Given the description of an element on the screen output the (x, y) to click on. 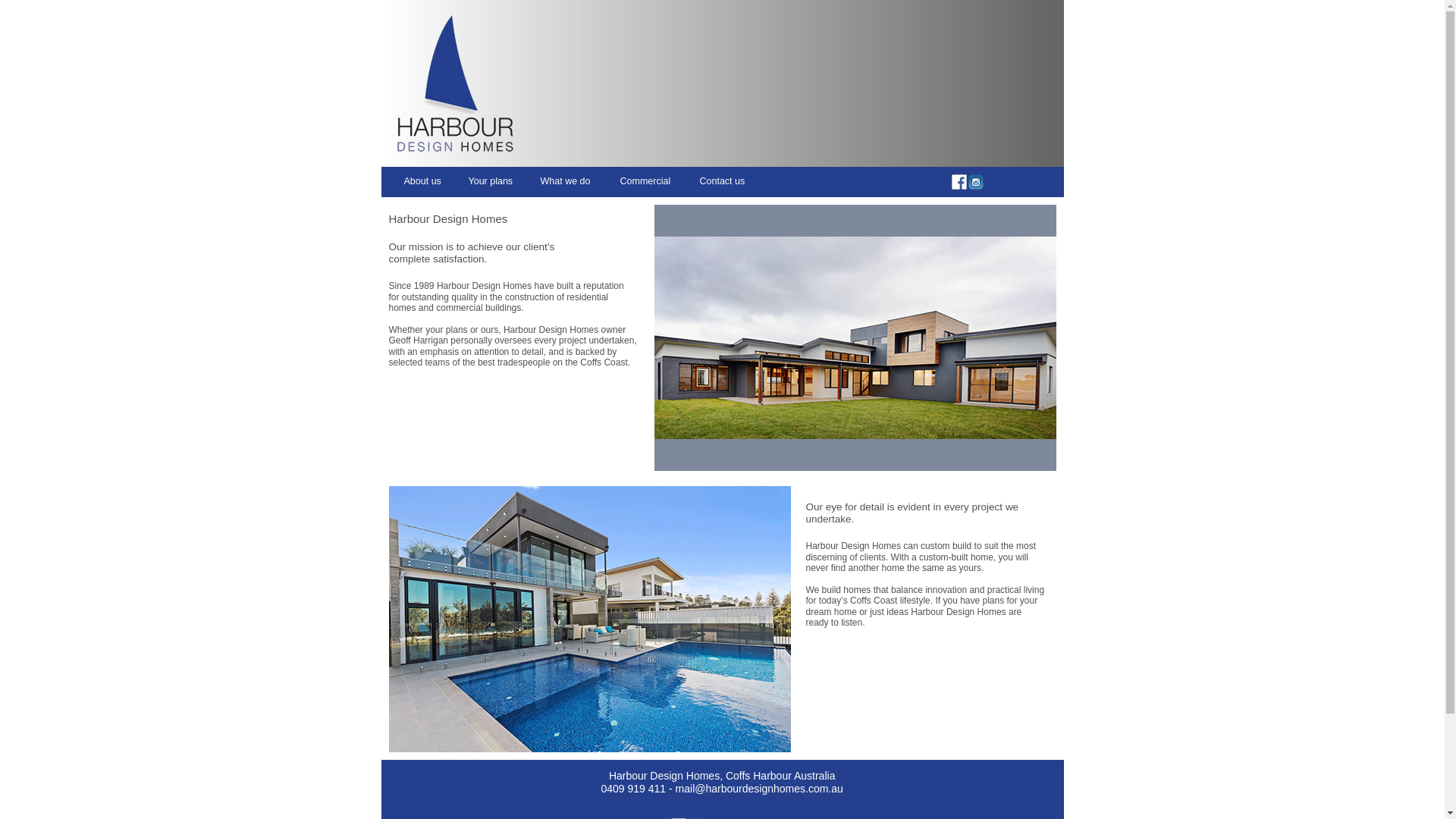
mail@harbourdesignhomes.com.au Element type: text (759, 788)
About us Element type: text (429, 180)
Commercial Element type: text (654, 180)
Your plans Element type: text (498, 180)
Contact us Element type: text (733, 180)
What we do Element type: text (573, 180)
